Given the description of an element on the screen output the (x, y) to click on. 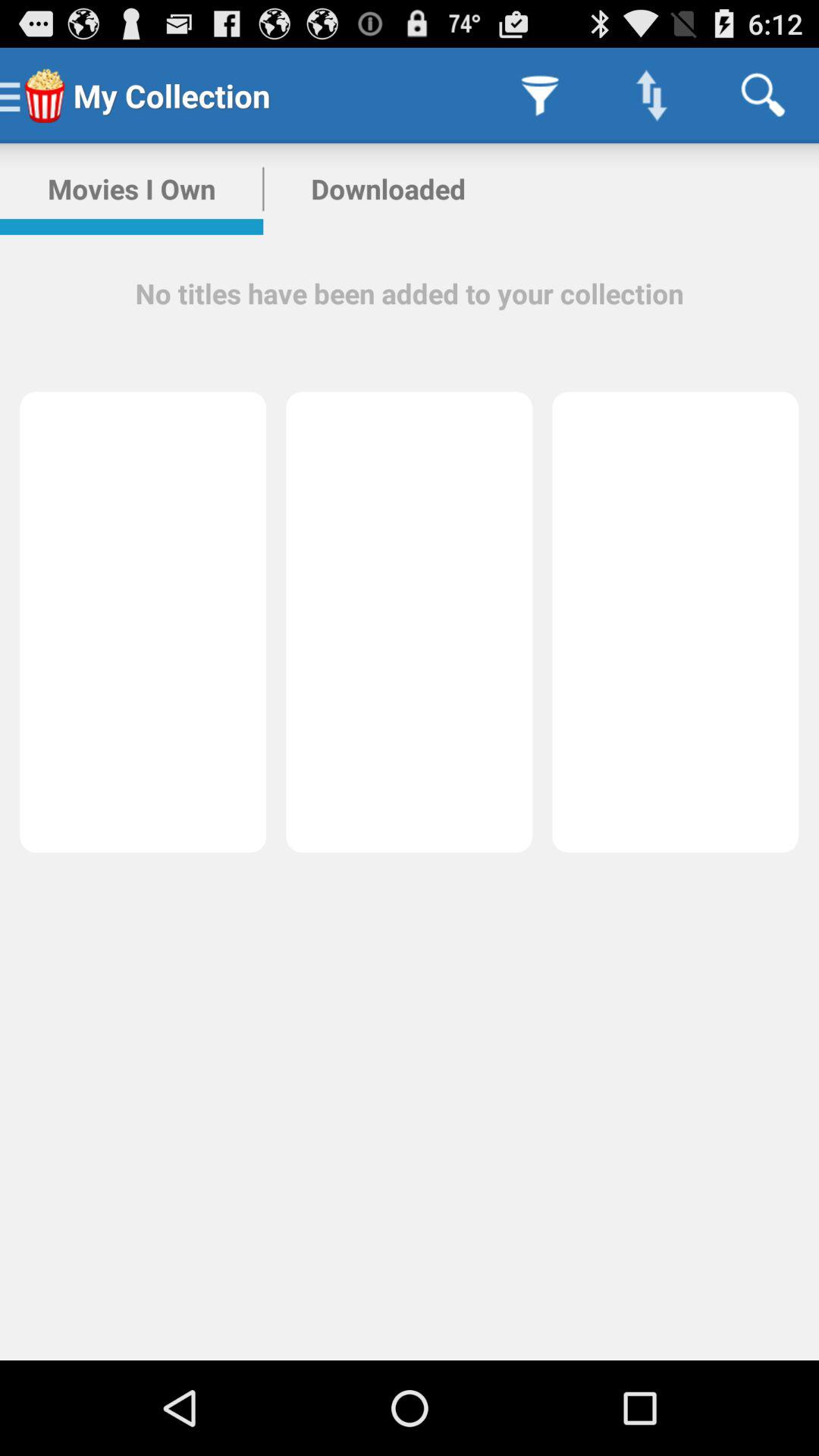
choose movies i own app (131, 188)
